Given the description of an element on the screen output the (x, y) to click on. 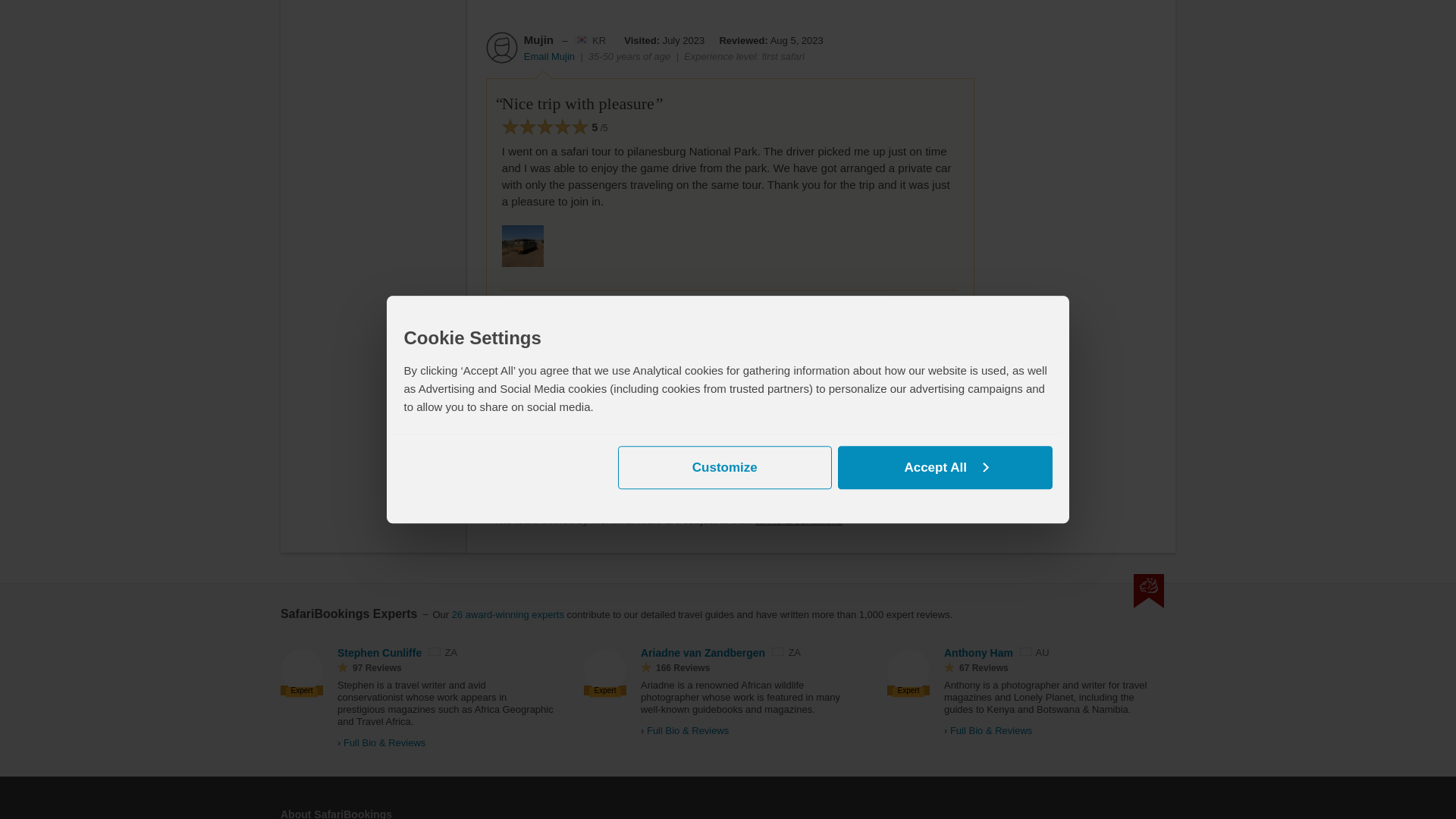
Australia (1026, 651)
South Africa (434, 651)
South Africa (777, 651)
